Given the description of an element on the screen output the (x, y) to click on. 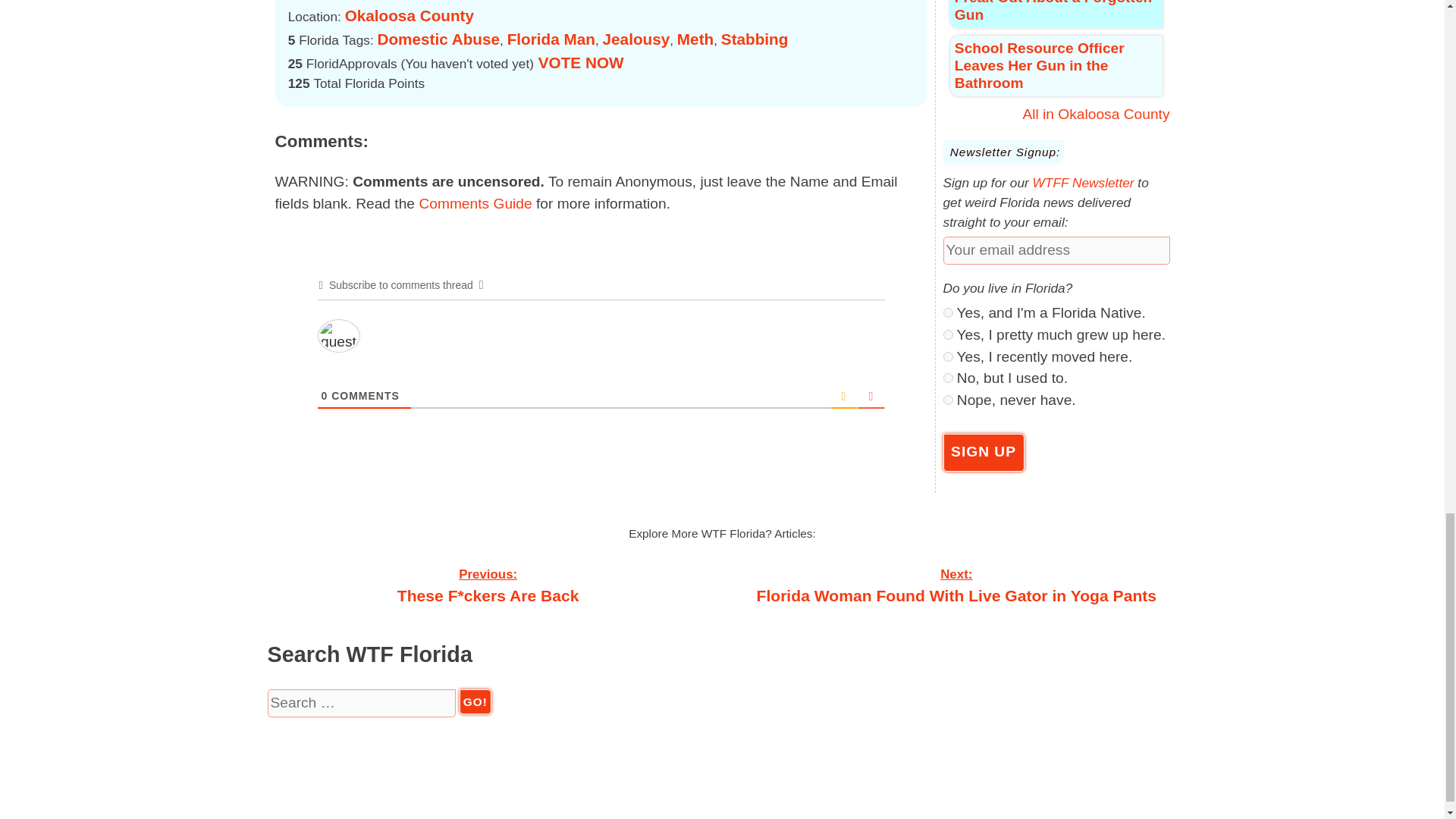
Yes, I recently moved here. (948, 356)
No, but I used to. (948, 378)
Yes, and I'm a Florida Native. (948, 312)
Nope, never have. (948, 399)
Go! (476, 701)
Sign up (984, 452)
Yes, I pretty much grew up here. (948, 334)
Go! (476, 701)
